Given the description of an element on the screen output the (x, y) to click on. 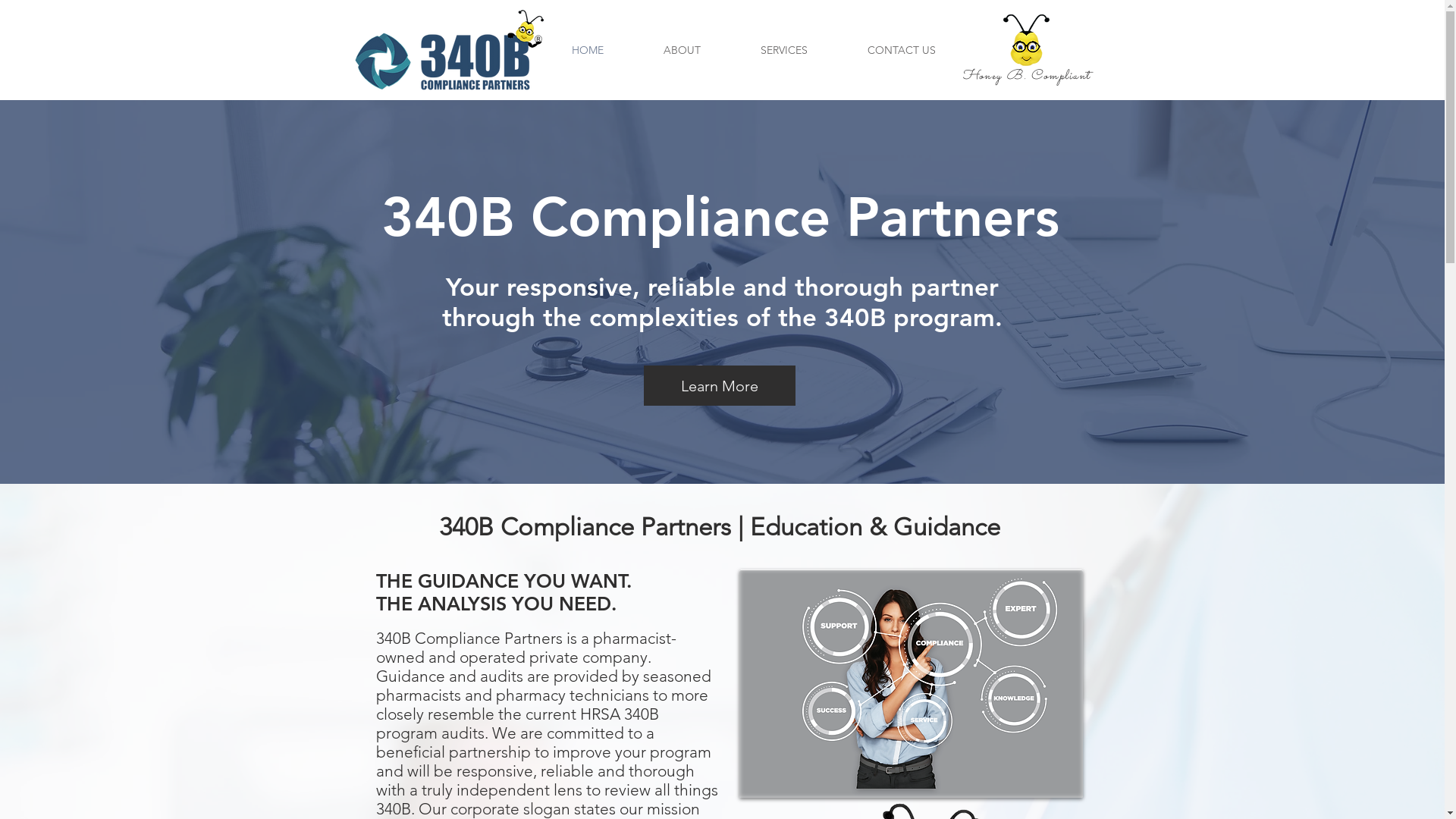
ABOUT Element type: text (682, 50)
SERVICES Element type: text (784, 50)
HOME Element type: text (587, 50)
CONTACT US Element type: text (901, 50)
Learn More Element type: text (718, 385)
